Given the description of an element on the screen output the (x, y) to click on. 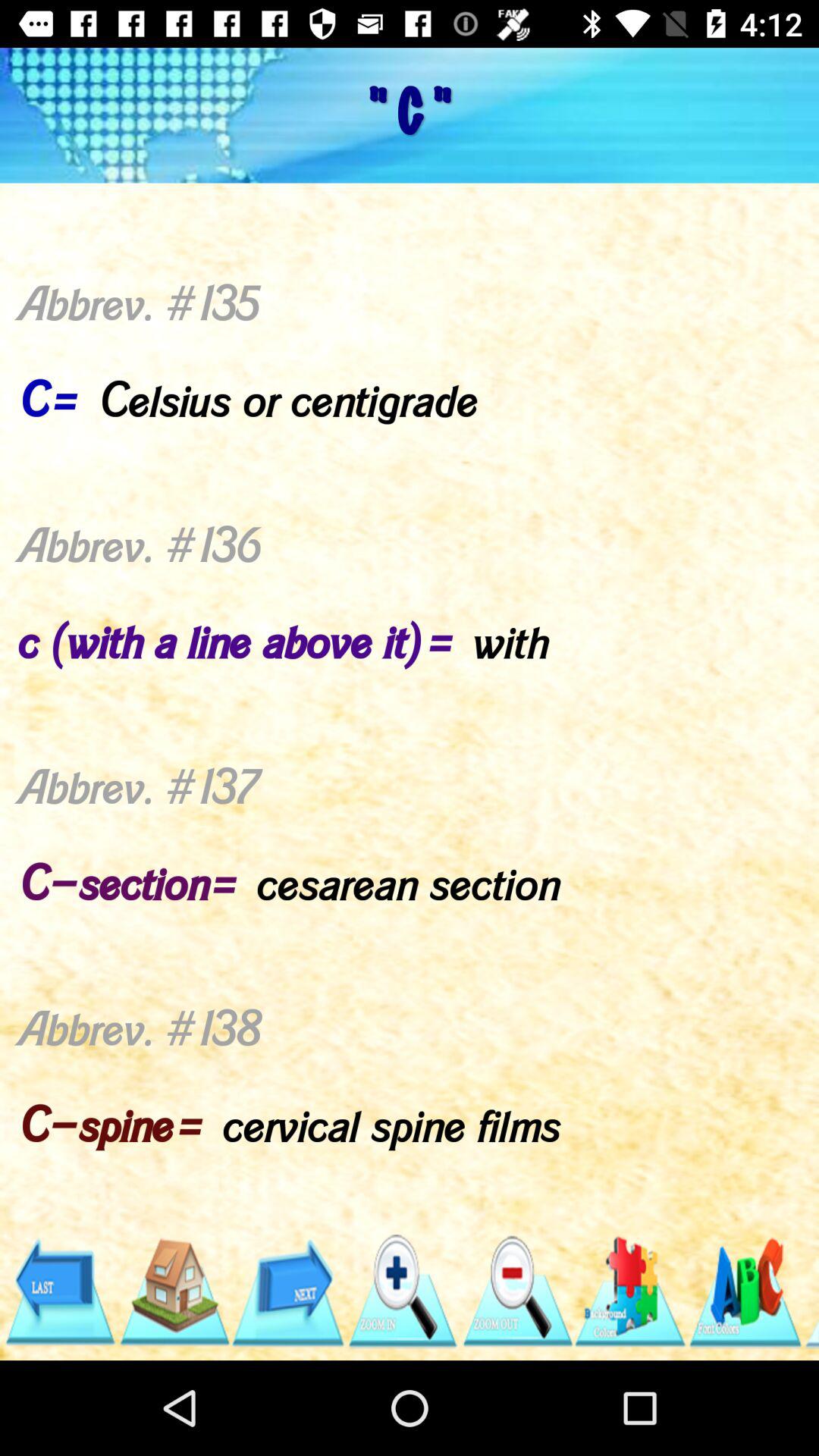
choose item below abbrev 	135	 	c	 icon (173, 1291)
